Given the description of an element on the screen output the (x, y) to click on. 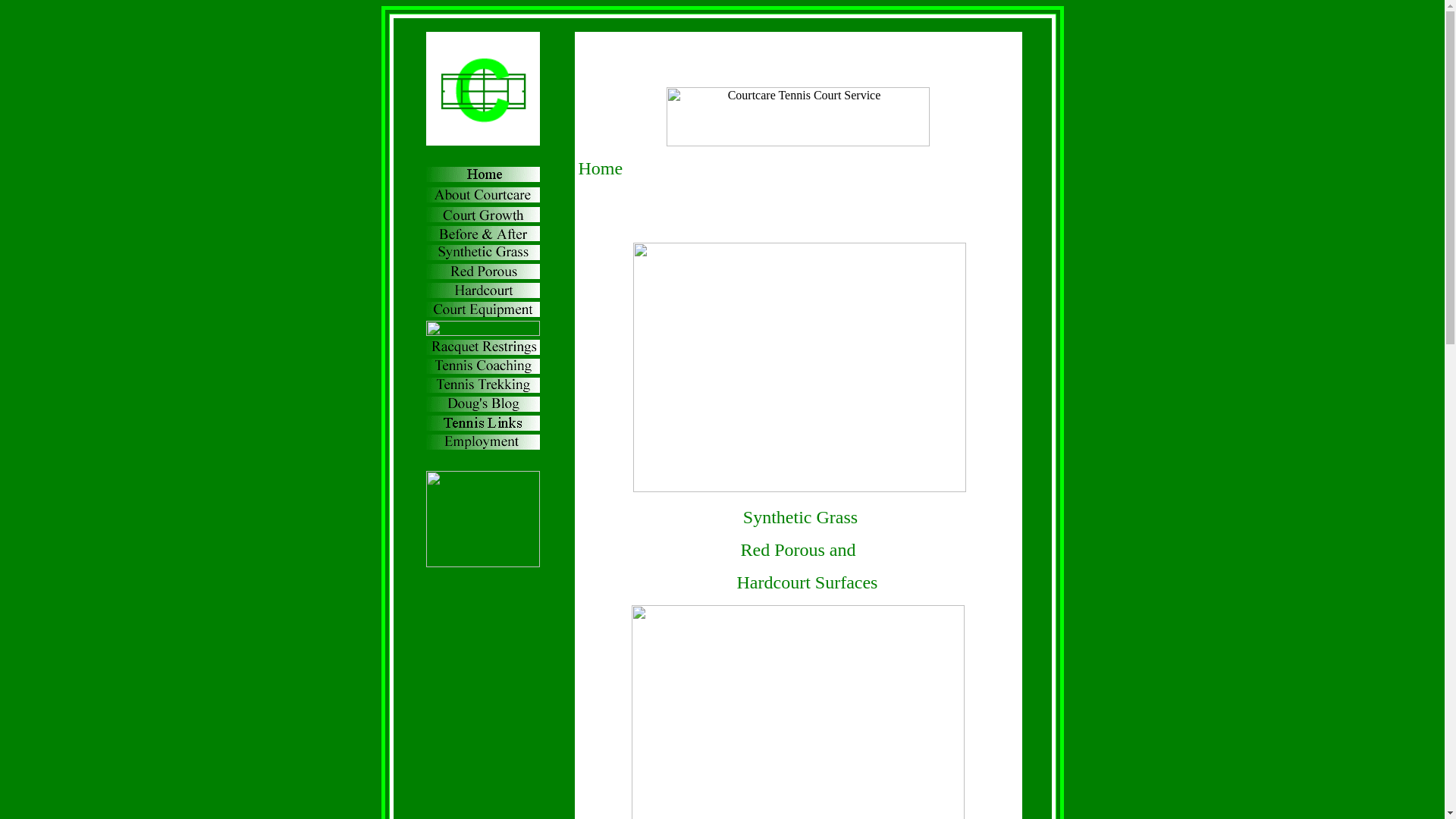
Hardcourt Element type: text (773, 582)
Red Porous Element type: text (782, 549)
Synthetic Grass Element type: text (800, 517)
